Given the description of an element on the screen output the (x, y) to click on. 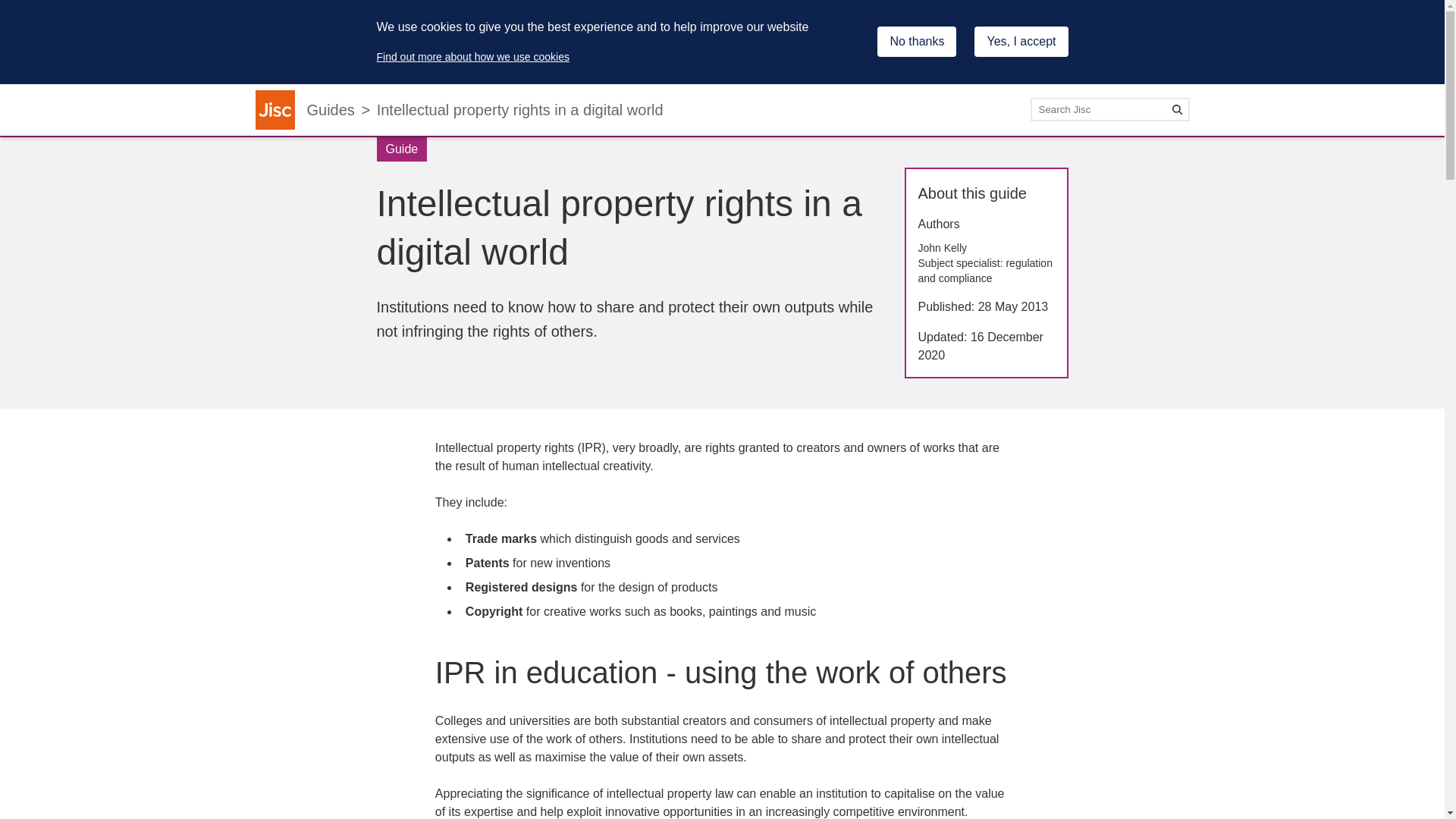
Find out more about how we use cookies (472, 56)
Search Jisc (1109, 109)
Intellectual property rights in a digital world (520, 109)
No thanks (916, 41)
Search (1176, 109)
Jisc homepage (274, 109)
Yes, I accept (1020, 41)
Guides (329, 109)
